Given the description of an element on the screen output the (x, y) to click on. 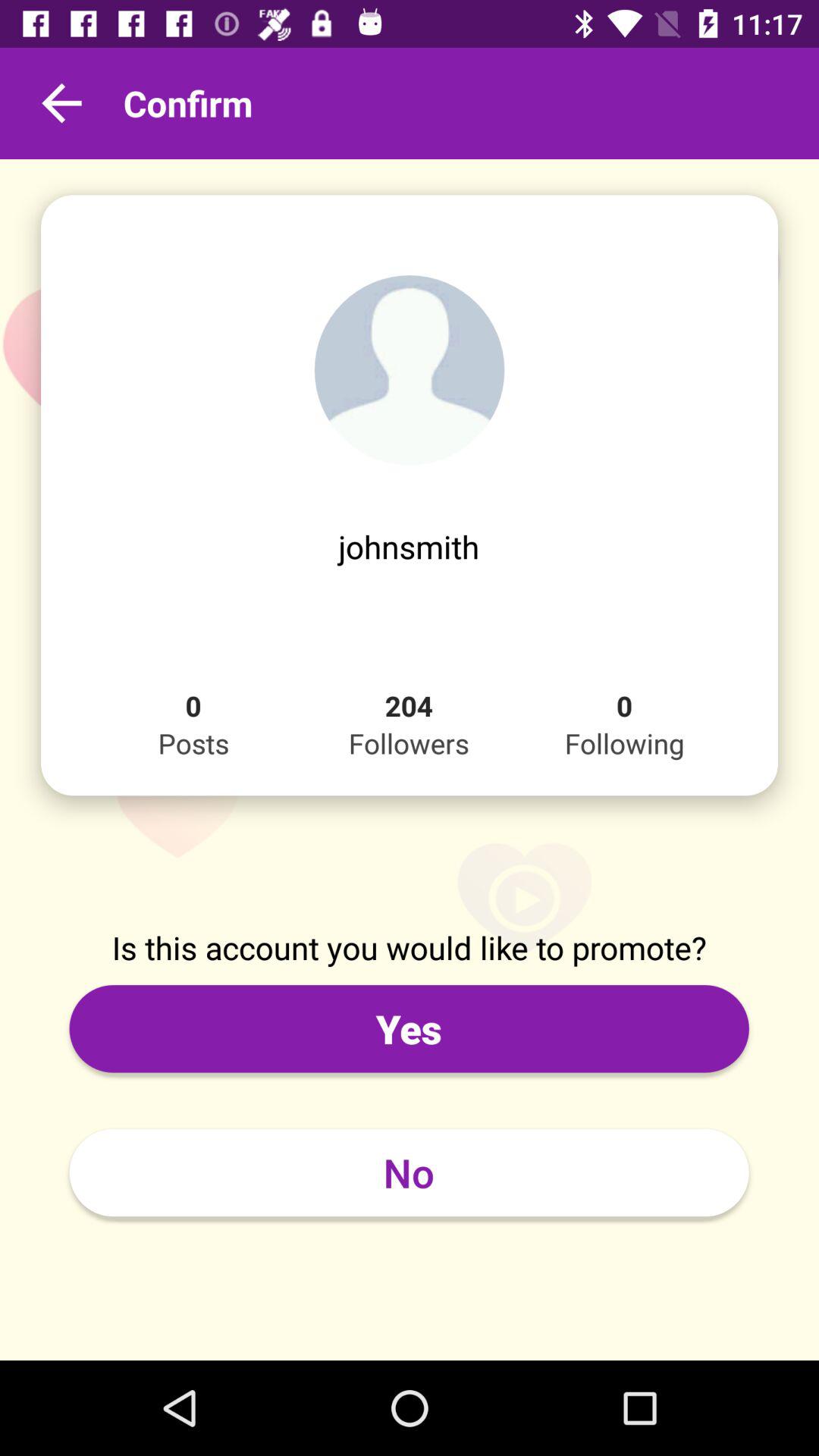
tap icon below the is this account icon (409, 1028)
